Given the description of an element on the screen output the (x, y) to click on. 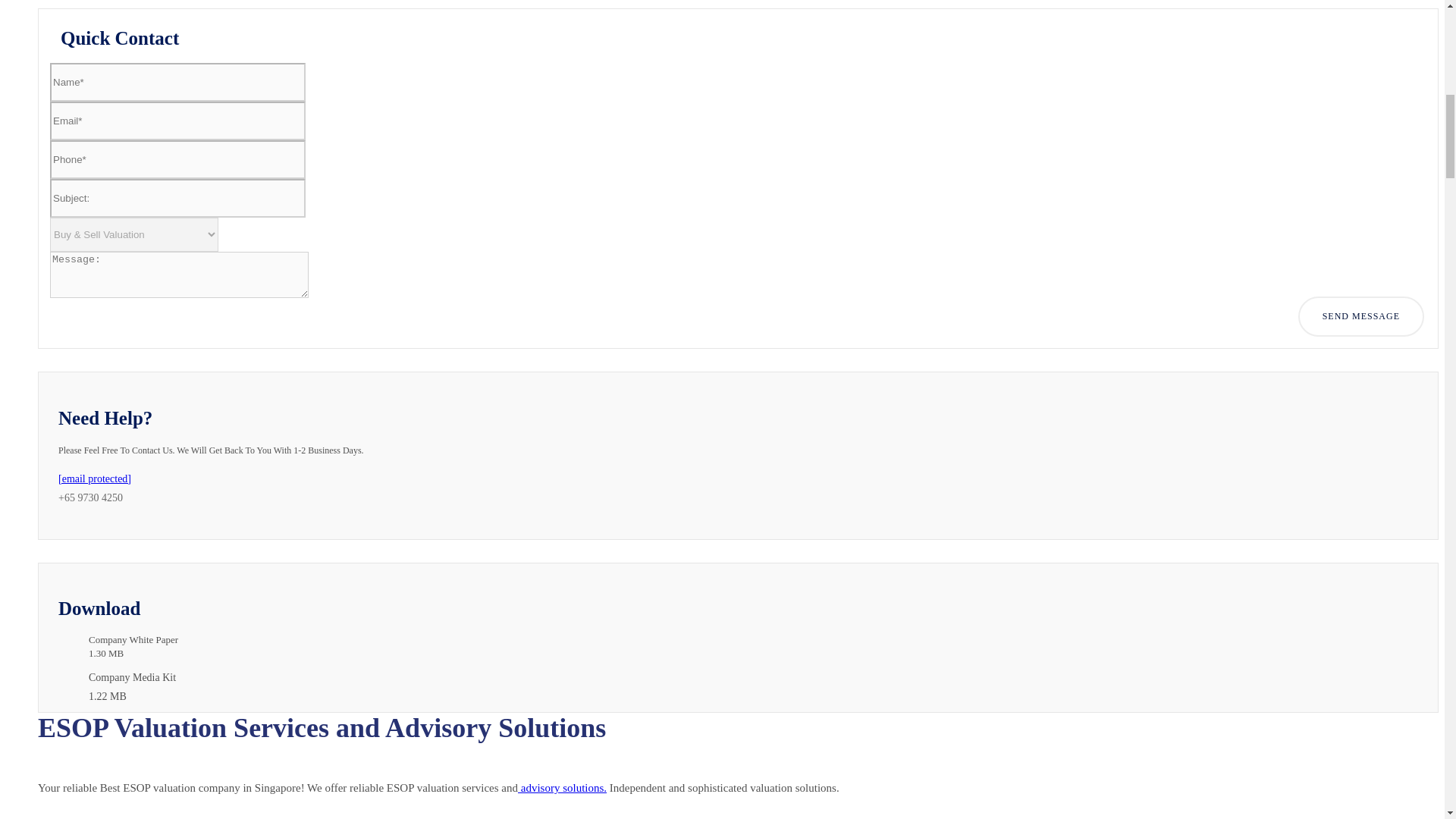
Send Message (1360, 316)
